Given the description of an element on the screen output the (x, y) to click on. 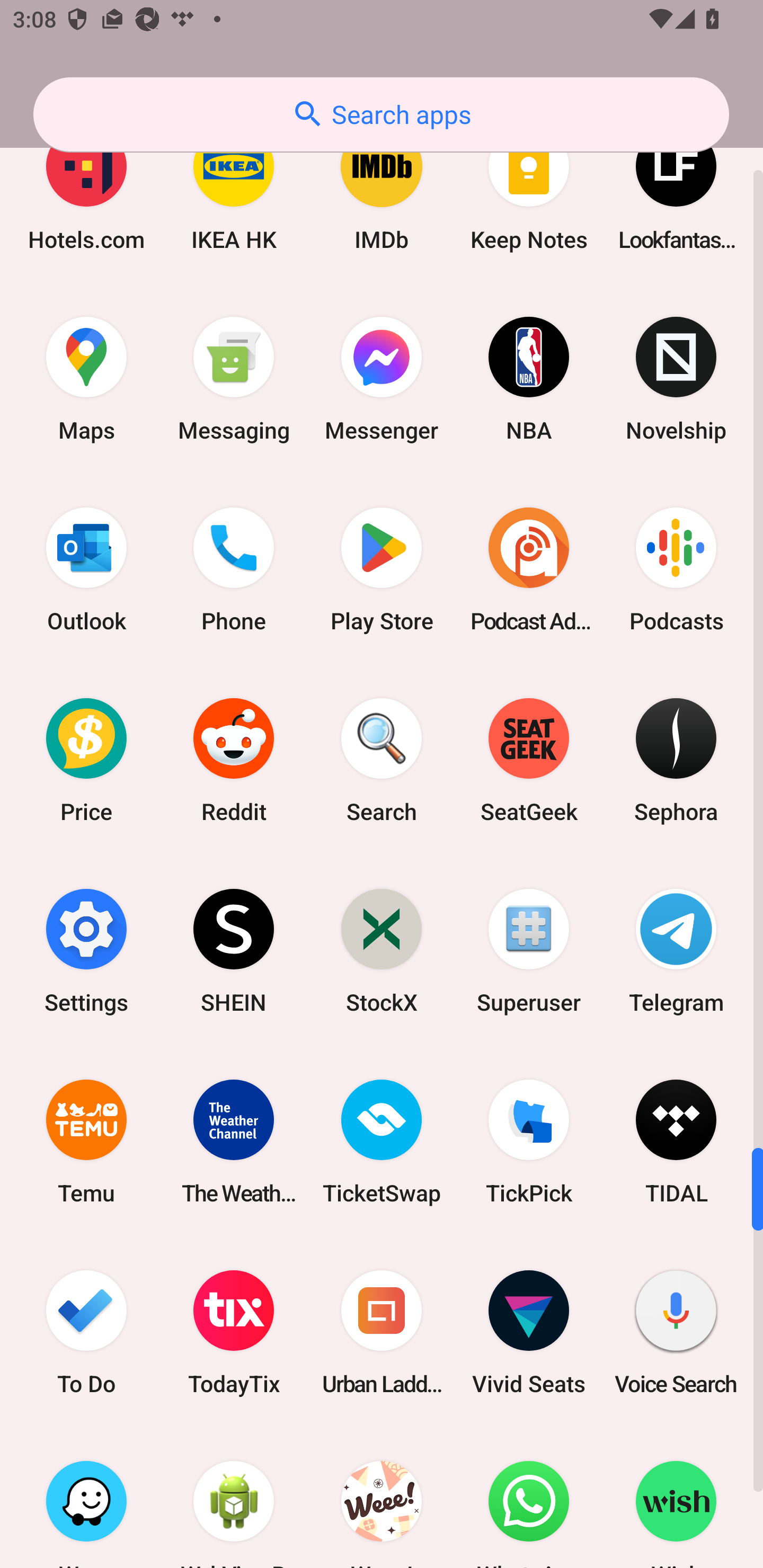
To Do (86, 1331)
